Given the description of an element on the screen output the (x, y) to click on. 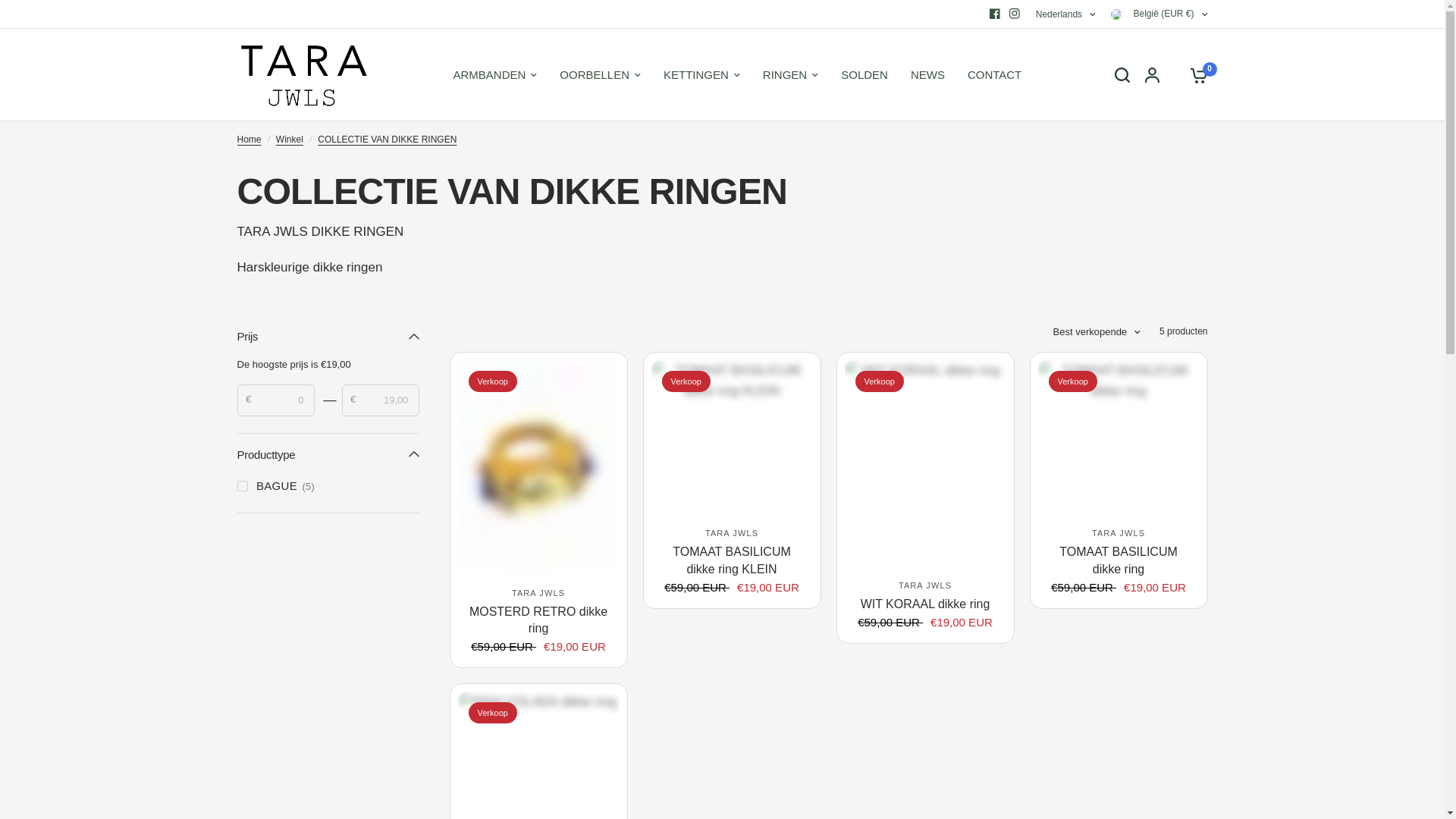
Facebook (994, 13)
BAGUE (241, 485)
Nederlands (1065, 13)
Instagram (1014, 13)
